Given the description of an element on the screen output the (x, y) to click on. 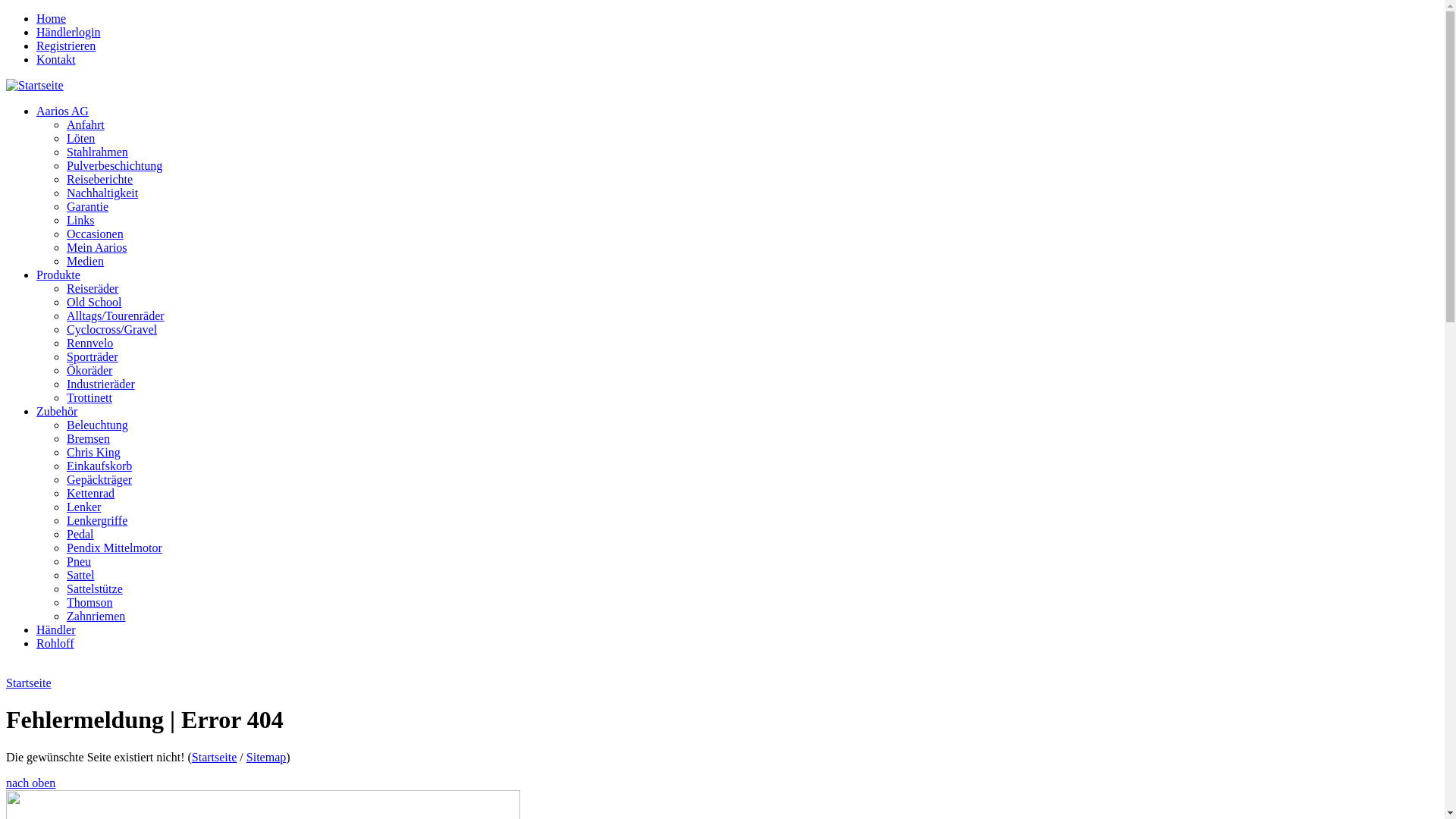
Aarios AG Element type: text (62, 110)
Einkaufskorb Element type: text (98, 465)
Kettenrad Element type: text (90, 492)
Lenkergriffe Element type: text (96, 520)
Home Element type: text (50, 18)
Old School Element type: text (93, 301)
Lenker Element type: text (83, 506)
Bremsen Element type: text (87, 438)
Kontakt Element type: text (55, 59)
Occasionen Element type: text (94, 233)
Pedal Element type: text (80, 533)
Beleuchtung Element type: text (97, 424)
Startseite Element type: text (214, 756)
Anfahrt Element type: text (85, 124)
Pulverbeschichtung Element type: text (114, 165)
Cyclocross/Gravel Element type: text (111, 329)
Chris King Element type: text (93, 451)
Trottinett Element type: text (89, 397)
Startseite Element type: hover (34, 84)
Zahnriemen Element type: text (95, 615)
Reiseberichte Element type: text (99, 178)
Stahlrahmen Element type: text (97, 151)
Produkte Element type: text (58, 274)
nach oben Element type: text (30, 782)
Medien Element type: text (84, 260)
Garantie Element type: text (87, 206)
Mein Aarios Element type: text (96, 247)
Links Element type: text (80, 219)
Sattel Element type: text (80, 574)
Pendix Mittelmotor Element type: text (114, 547)
Startseite Element type: text (28, 682)
Thomson Element type: text (89, 602)
Nachhaltigkeit Element type: text (102, 192)
Sitemap Element type: text (265, 756)
Rohloff Element type: text (54, 643)
Pneu Element type: text (78, 561)
Rennvelo Element type: text (89, 342)
Registrieren Element type: text (65, 45)
